Given the description of an element on the screen output the (x, y) to click on. 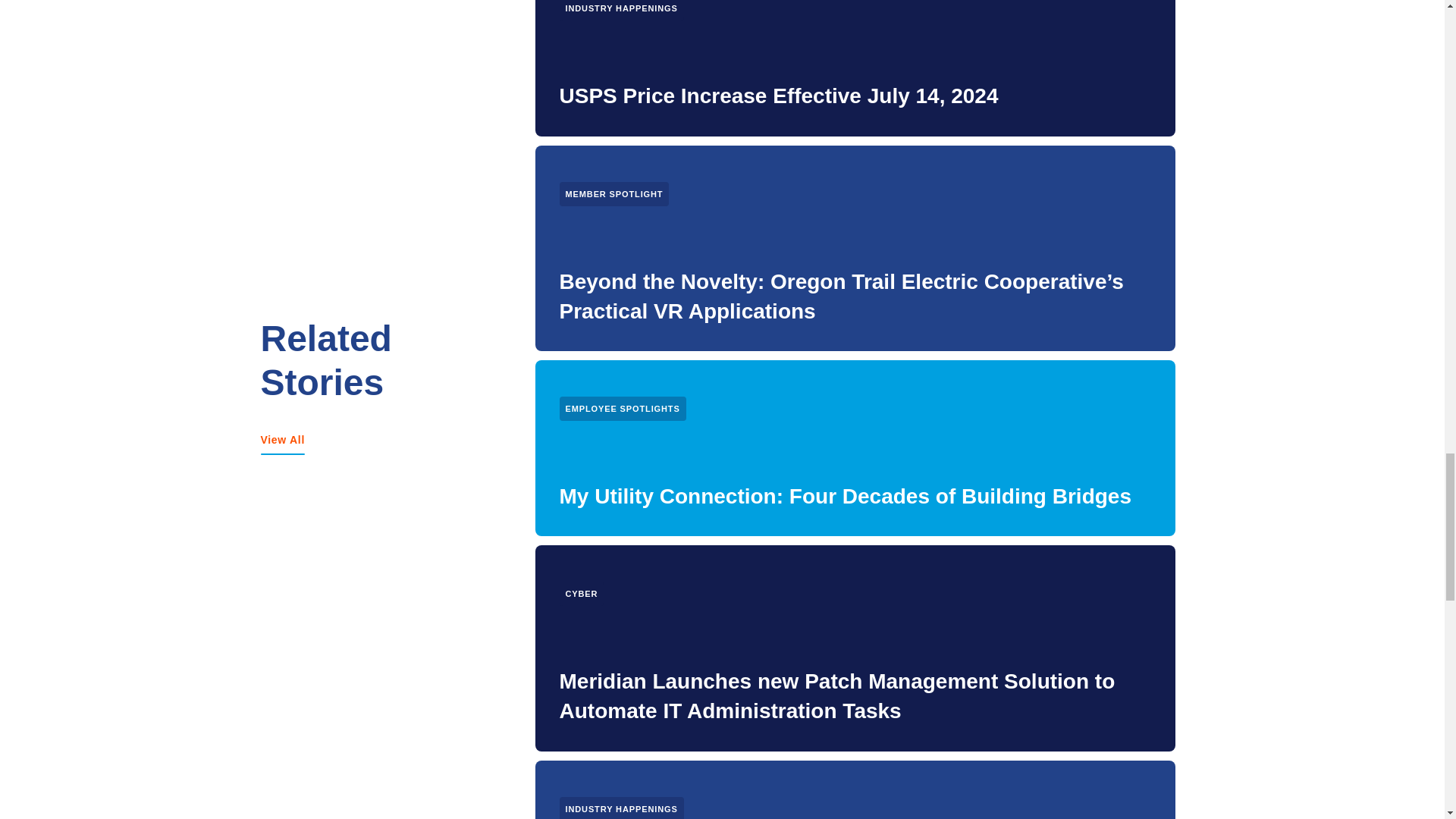
USPS Price Increase Effective July 14, 2024 (778, 95)
My Utility Connection: Four Decades of Building Bridges (845, 495)
View All (282, 439)
